Given the description of an element on the screen output the (x, y) to click on. 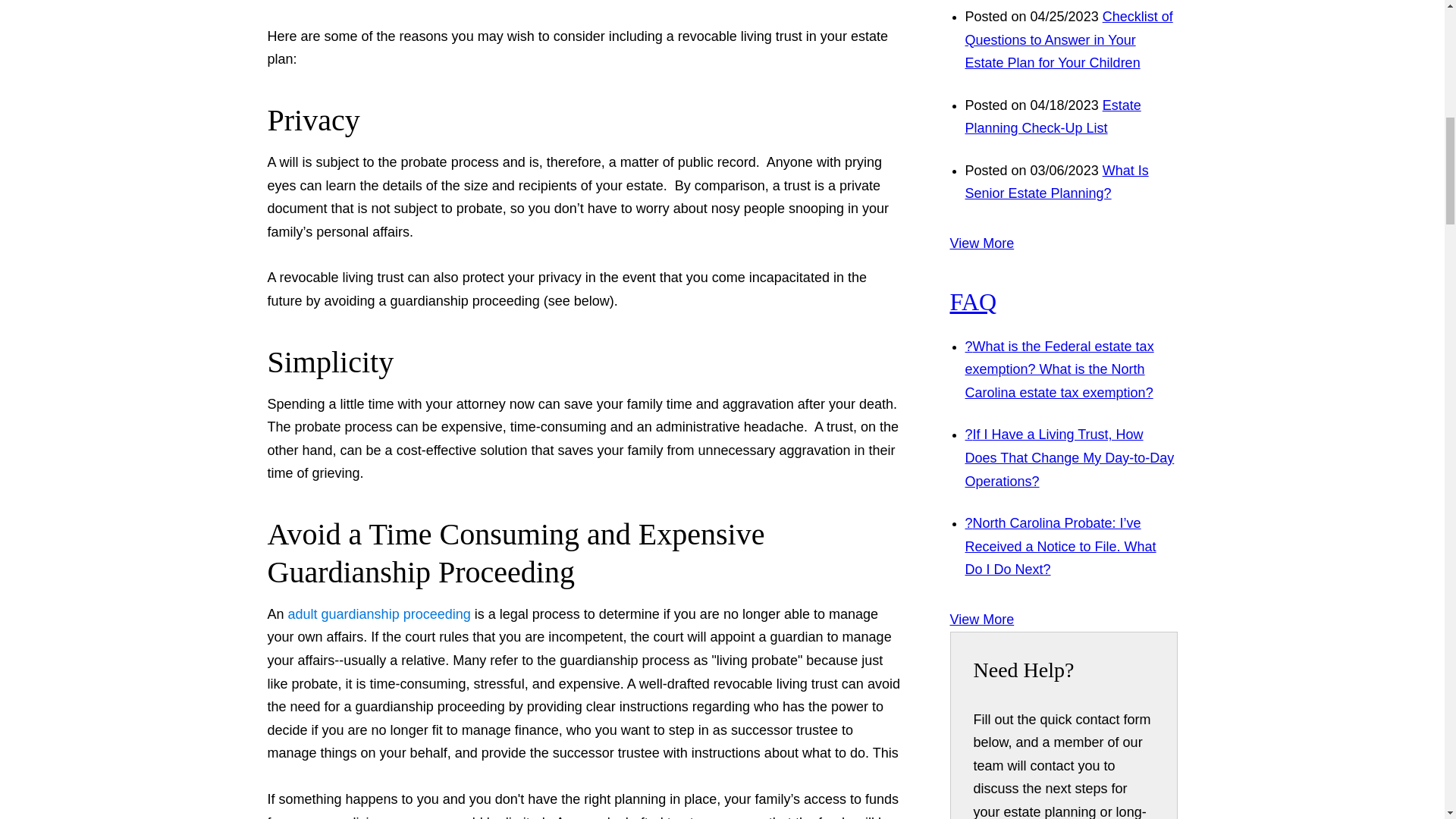
What Is An Adult Guardianship? (379, 613)
